Given the description of an element on the screen output the (x, y) to click on. 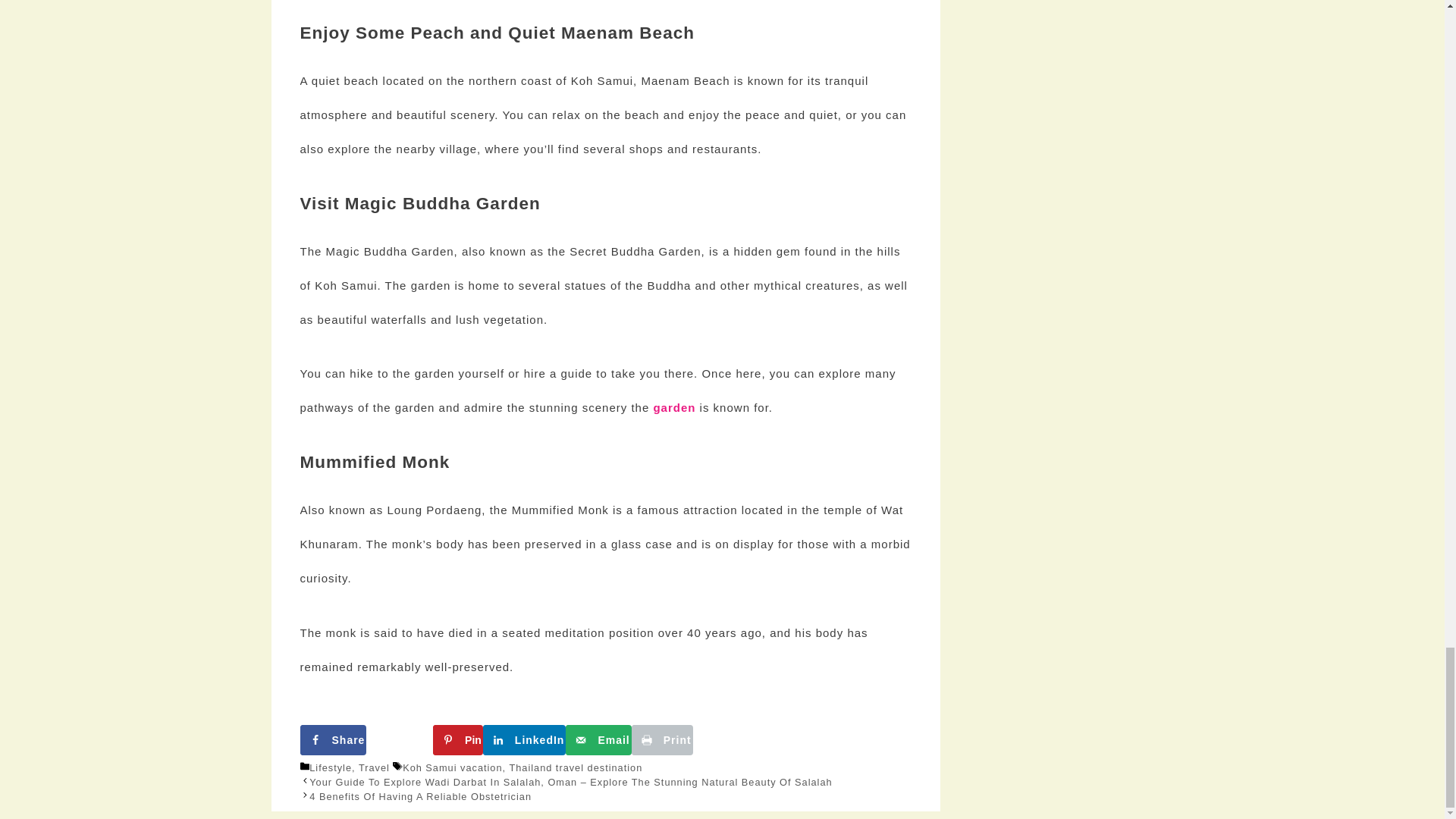
Save to Pinterest (457, 739)
Share on LinkedIn (524, 739)
Share on X (399, 739)
Send over email (598, 739)
garden (673, 407)
Share on Facebook (332, 739)
